Given the description of an element on the screen output the (x, y) to click on. 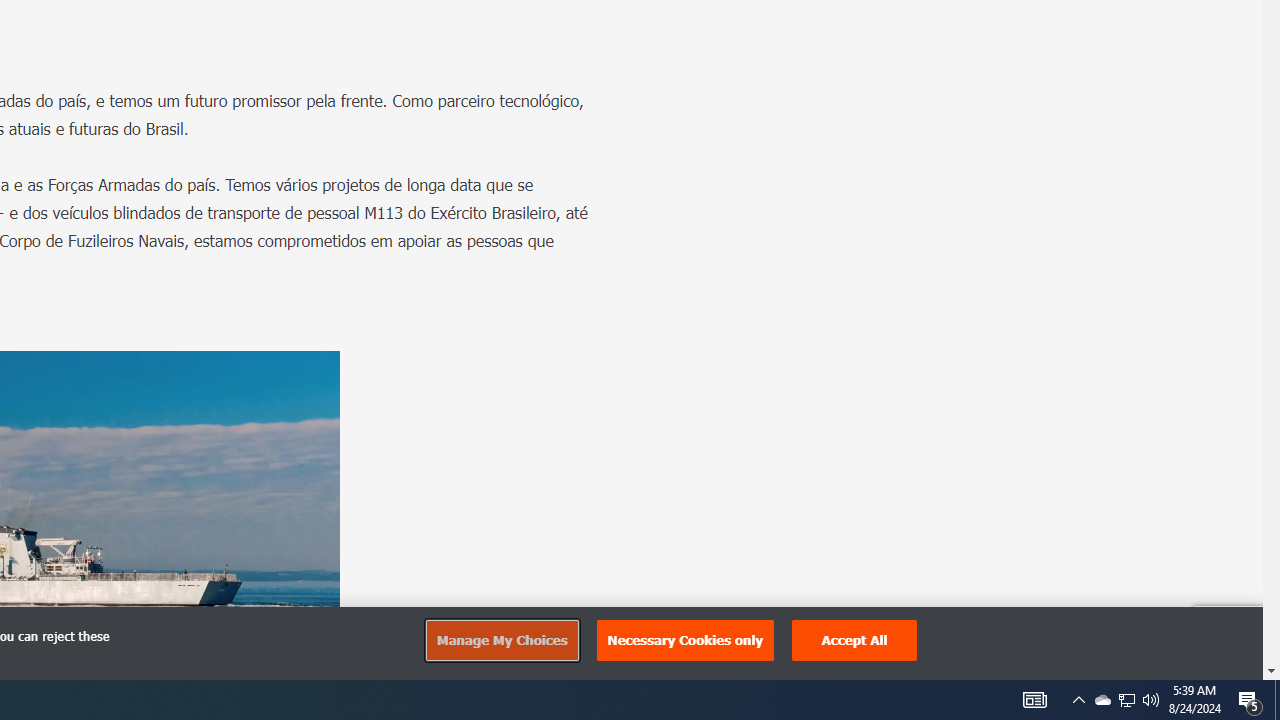
Necessary Cookies only (685, 640)
Manage My Choices (501, 640)
Accept All (854, 640)
